Given the description of an element on the screen output the (x, y) to click on. 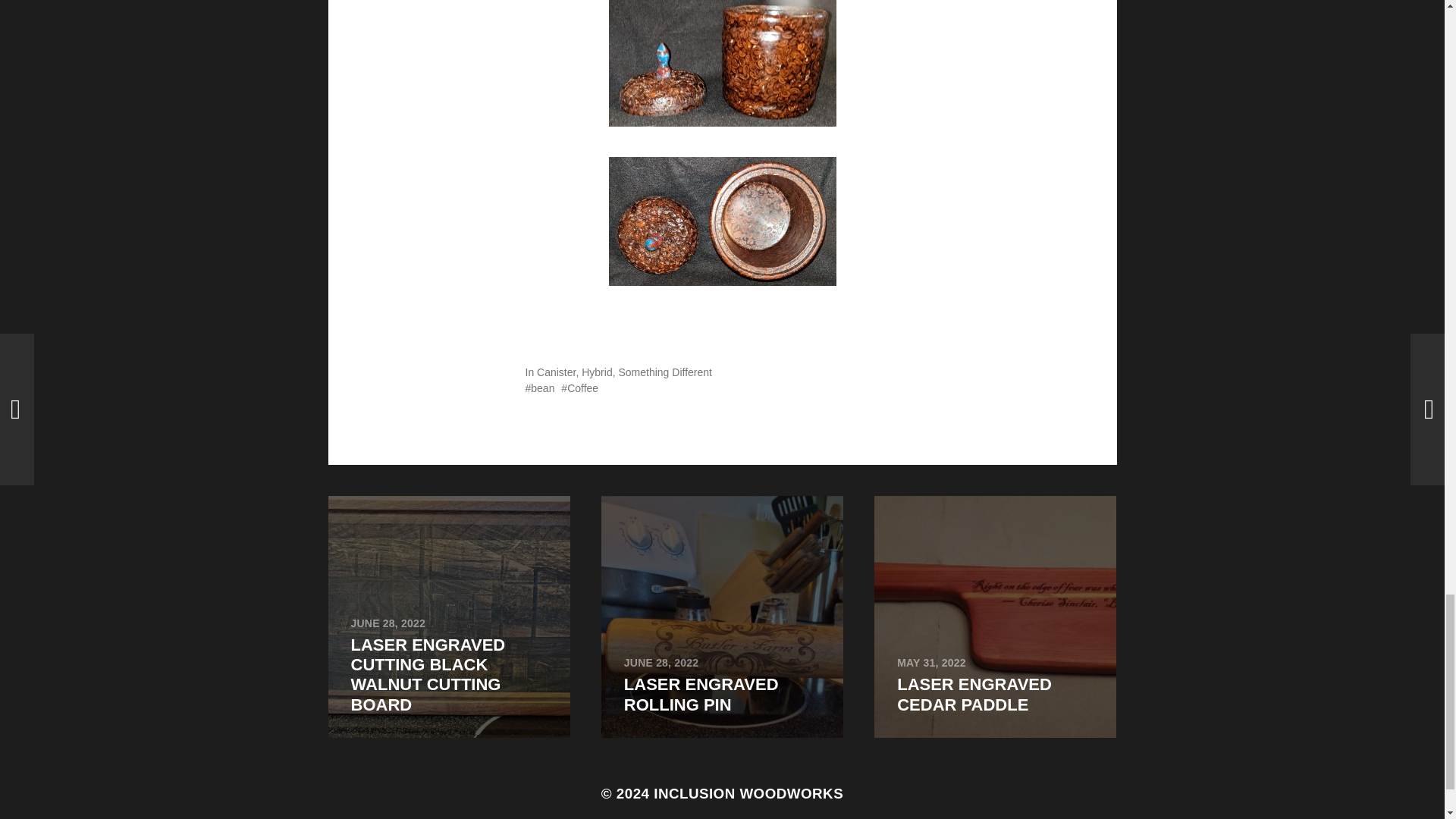
Canister (556, 372)
bean (539, 387)
Something Different (664, 372)
INCLUSION WOODWORKS (748, 793)
Hybrid (595, 372)
Coffee (995, 616)
